Given the description of an element on the screen output the (x, y) to click on. 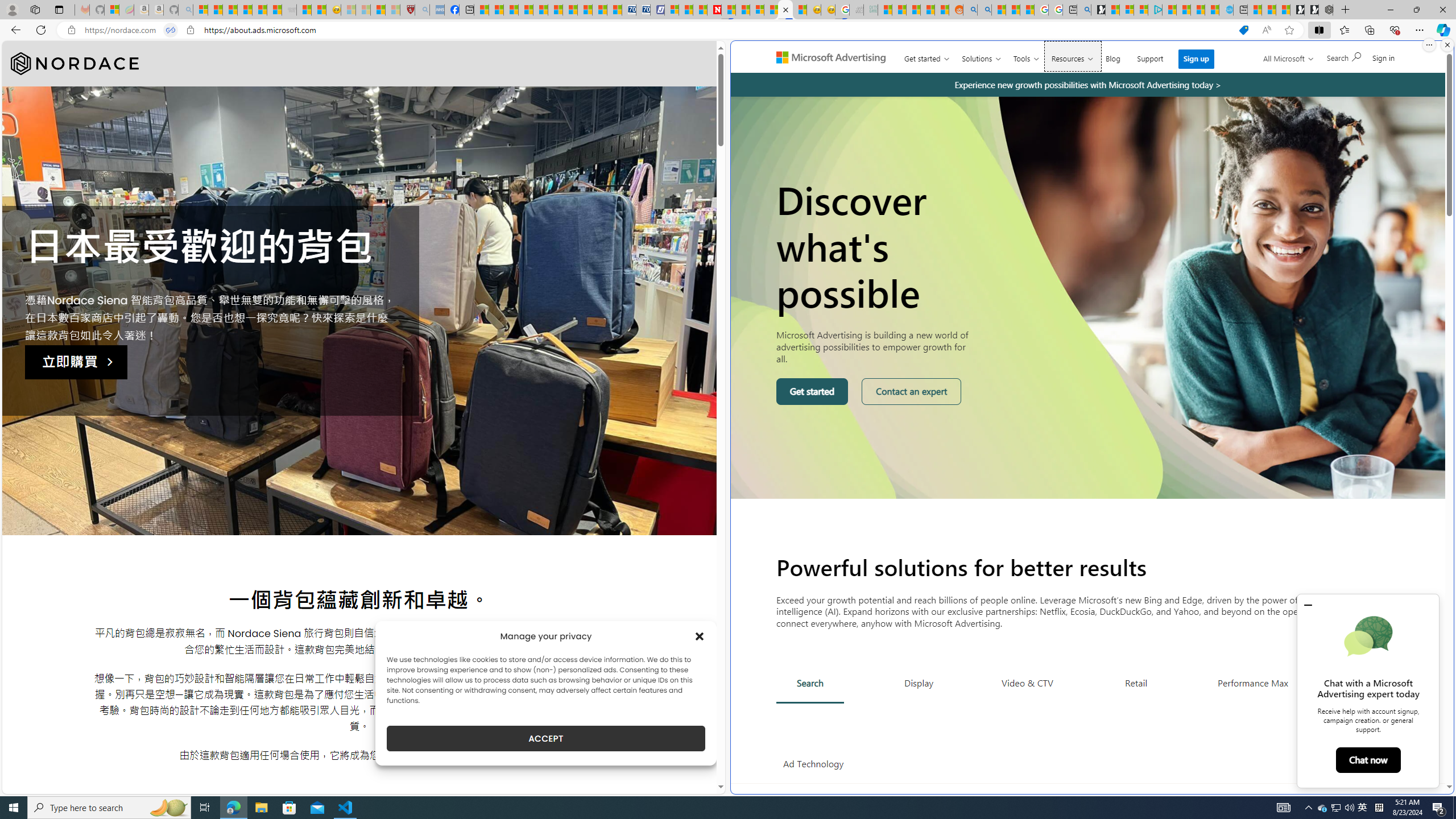
Contact an expert (911, 391)
Combat Siege - Sleeping (288, 9)
Microsoft Advertising (835, 56)
The Weather Channel - MSN (229, 9)
close (1308, 605)
